Given the description of an element on the screen output the (x, y) to click on. 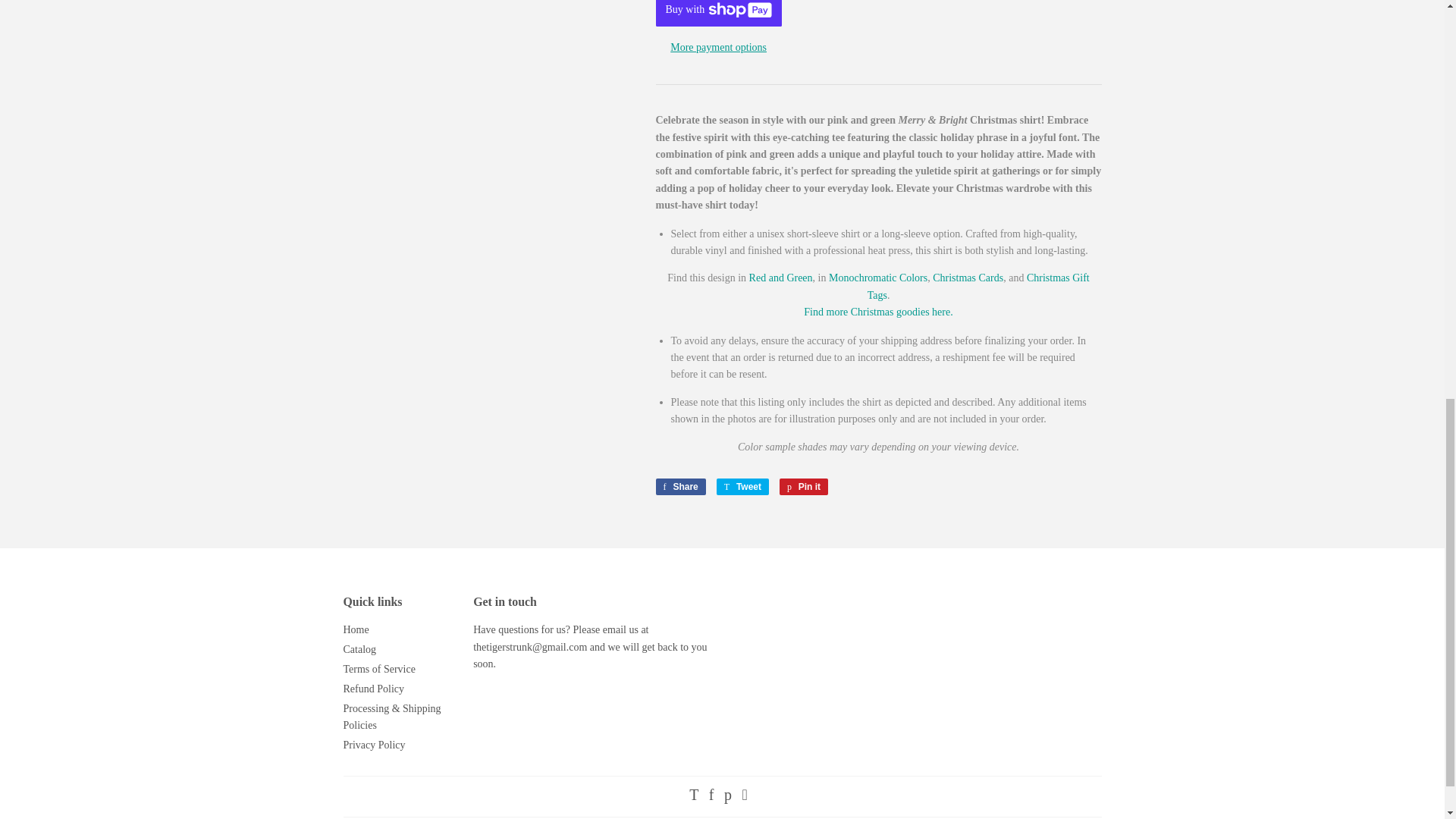
Christmas (877, 311)
Tweet on Twitter (742, 486)
Pin on Pinterest (803, 486)
Share on Facebook (679, 486)
